Given the description of an element on the screen output the (x, y) to click on. 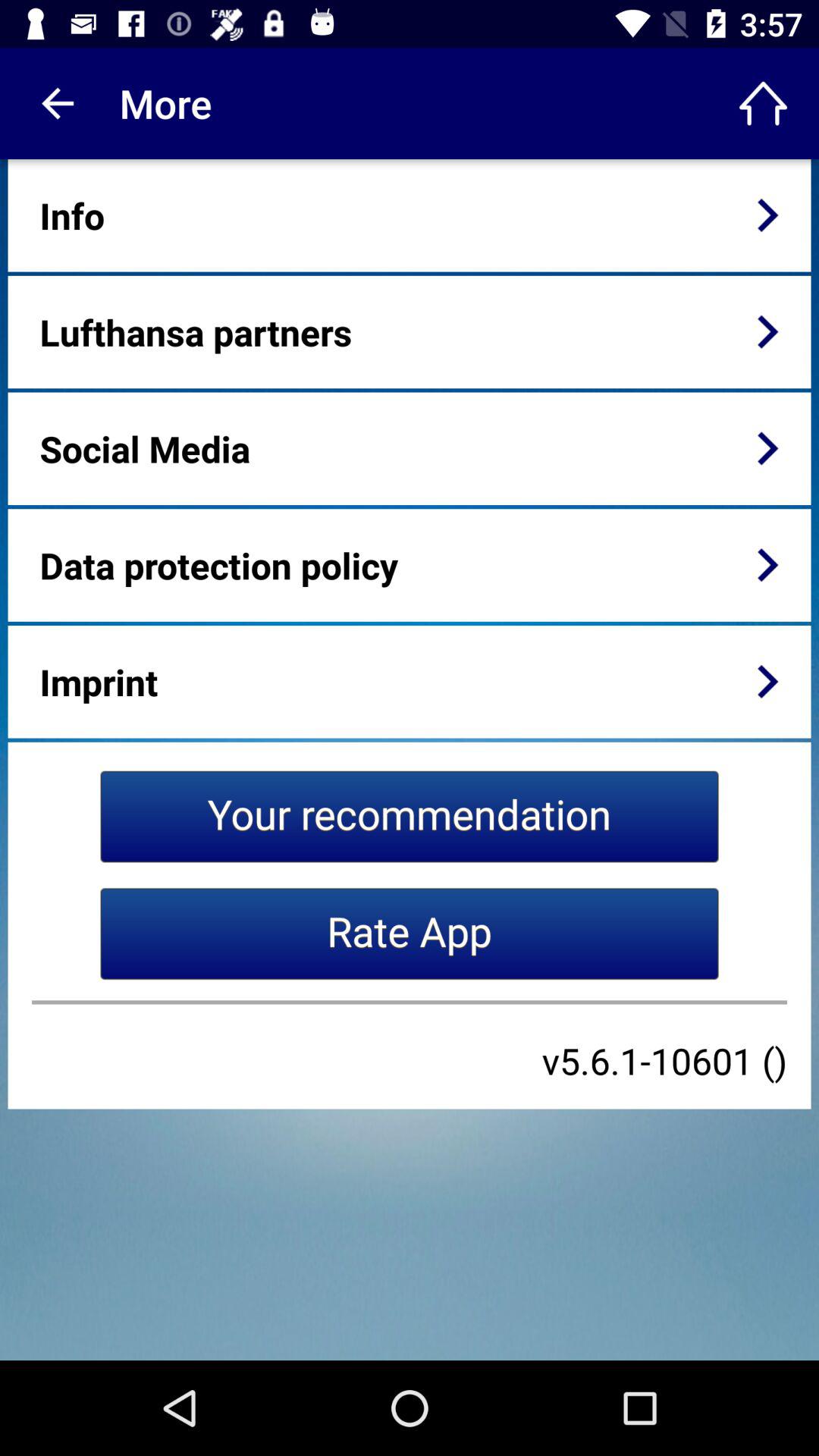
select the item to the right of imprint (768, 681)
